Given the description of an element on the screen output the (x, y) to click on. 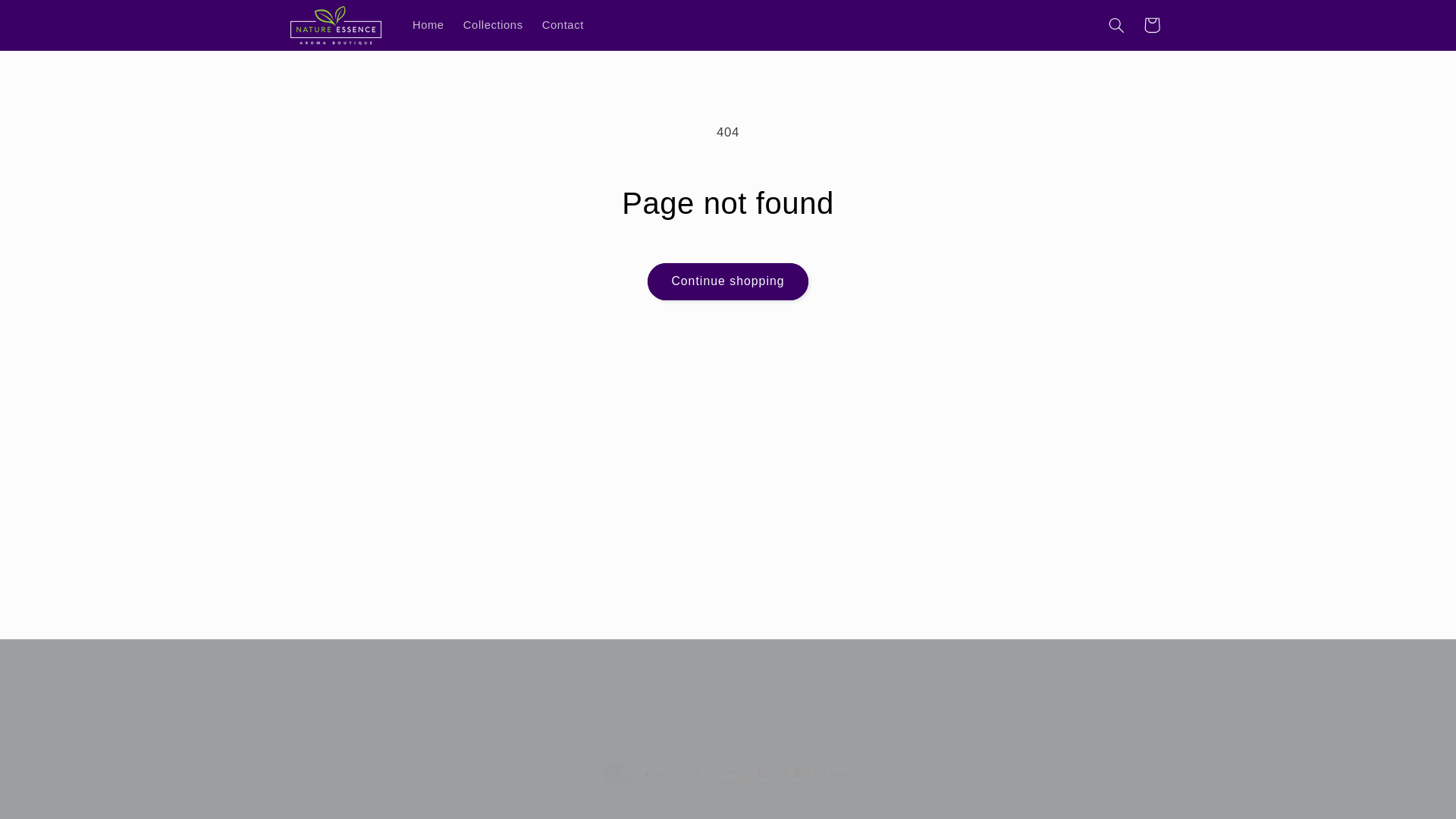
Contact (562, 24)
Continue shopping (727, 281)
Privacy policy (726, 802)
Terms of service (484, 802)
Refund policy (566, 802)
Cart (1151, 24)
Nature Essence Aroma (377, 801)
Collections (492, 24)
Shipping policy (645, 802)
Home (427, 24)
Skip to content (48, 18)
